Given the description of an element on the screen output the (x, y) to click on. 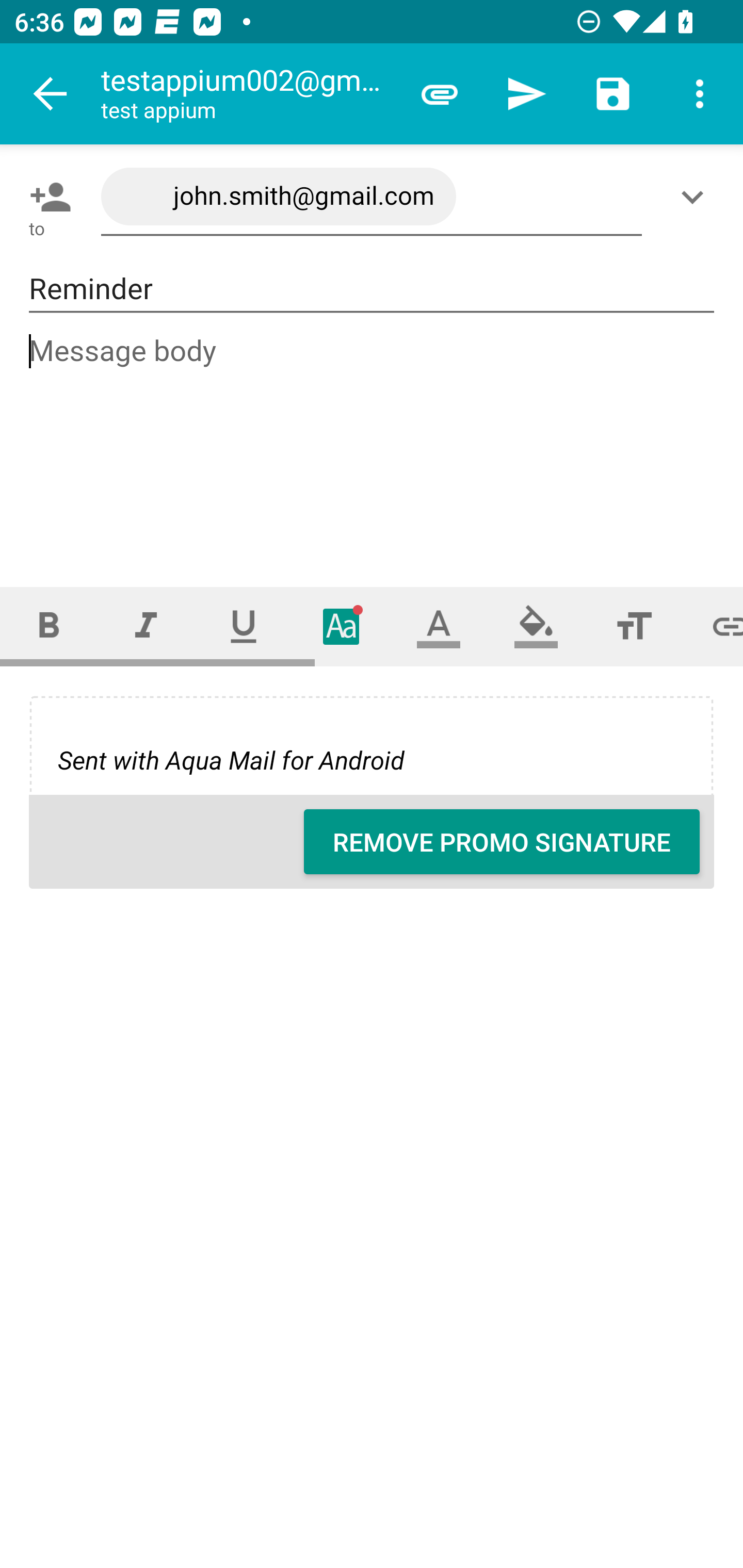
Navigate up (50, 93)
testappium002@gmail.com test appium (248, 93)
Attach (439, 93)
Send (525, 93)
Save (612, 93)
More options (699, 93)
john.smith@gmail.com,  (371, 197)
Pick contact: To (46, 196)
Show/Add CC/BCC (696, 196)
Reminder (371, 288)
Message body (372, 442)
Bold (48, 626)
Italic (145, 626)
Underline (243, 626)
Typeface (font) (341, 626)
Text color (438, 626)
Fill color (536, 626)
Font size (633, 626)
REMOVE PROMO SIGNATURE (501, 841)
